Given the description of an element on the screen output the (x, y) to click on. 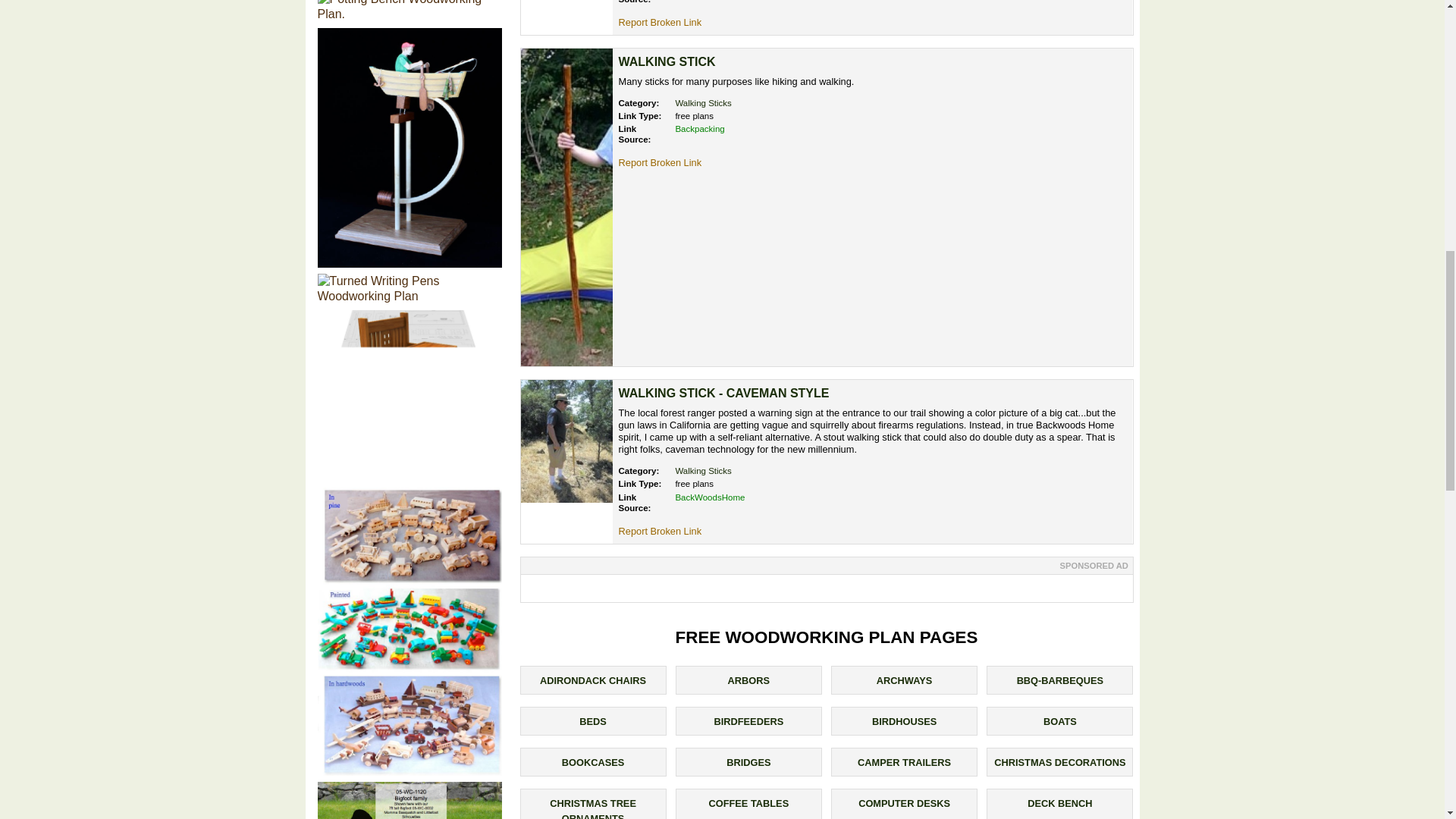
Report Broken Link (659, 531)
COFFEE TABLES (748, 803)
Report Broken Link (659, 21)
CAMPER TRAILERS (903, 762)
ARCHWAYS (903, 680)
COMPUTER DESKS (904, 803)
ADIRONDACK CHAIRS (593, 680)
CHRISTMAS TREE ORNAMENTS (593, 808)
Walking Stick - Caveman style (723, 392)
BOATS (1060, 721)
BIRDHOUSES (904, 721)
Walking Sticks (702, 470)
Report Broken Link (659, 162)
CHRISTMAS DECORATIONS (1059, 762)
WALKING STICK - CAVEMAN STYLE (723, 392)
